Given the description of an element on the screen output the (x, y) to click on. 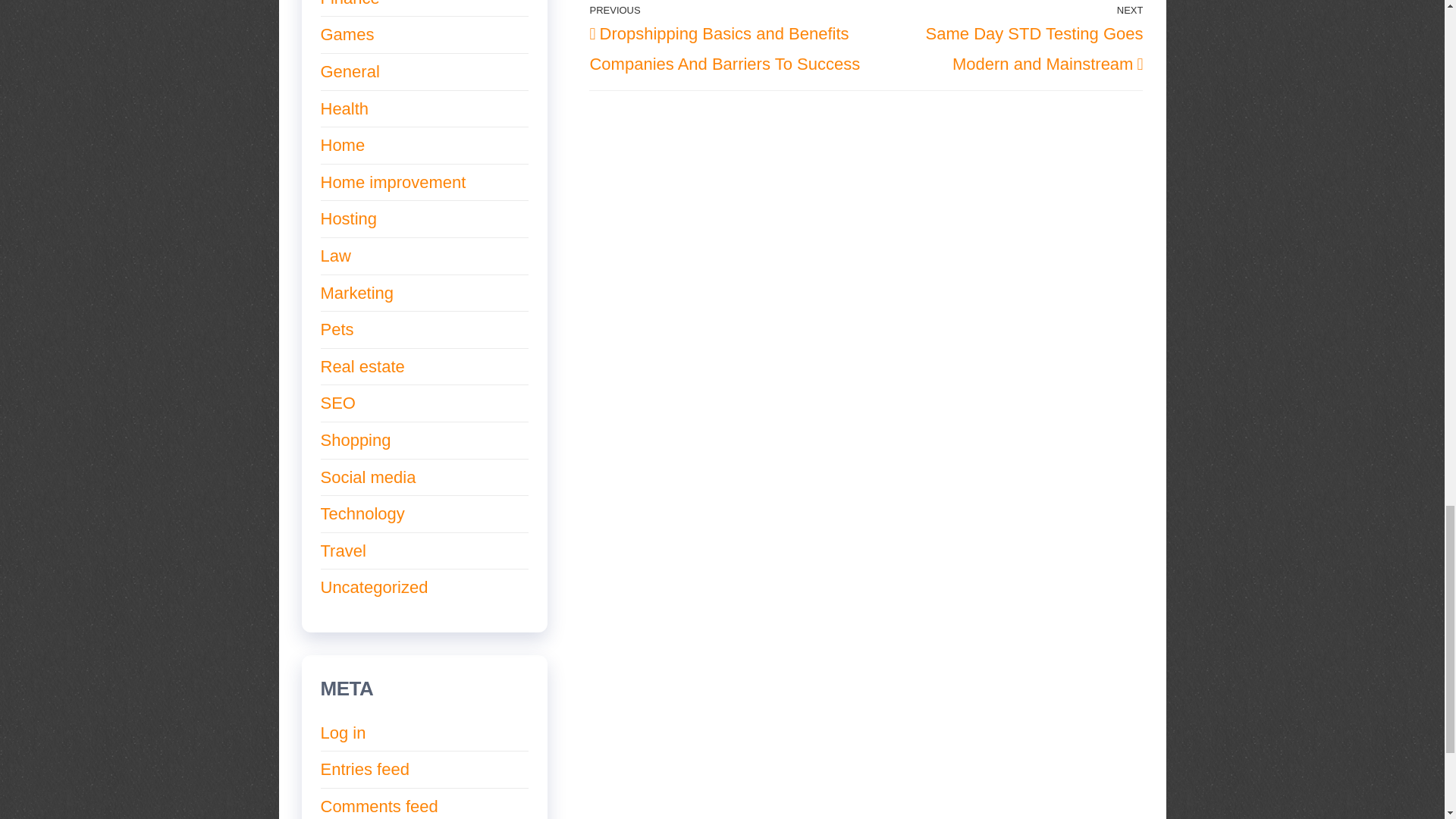
Law (335, 255)
SEO (337, 402)
Home improvement (392, 181)
General (349, 71)
Marketing (356, 292)
Shopping (355, 439)
Health (344, 108)
Social media (367, 476)
Games (347, 34)
Pets (336, 329)
Real estate (362, 366)
Home (342, 144)
Finance (349, 3)
